Given the description of an element on the screen output the (x, y) to click on. 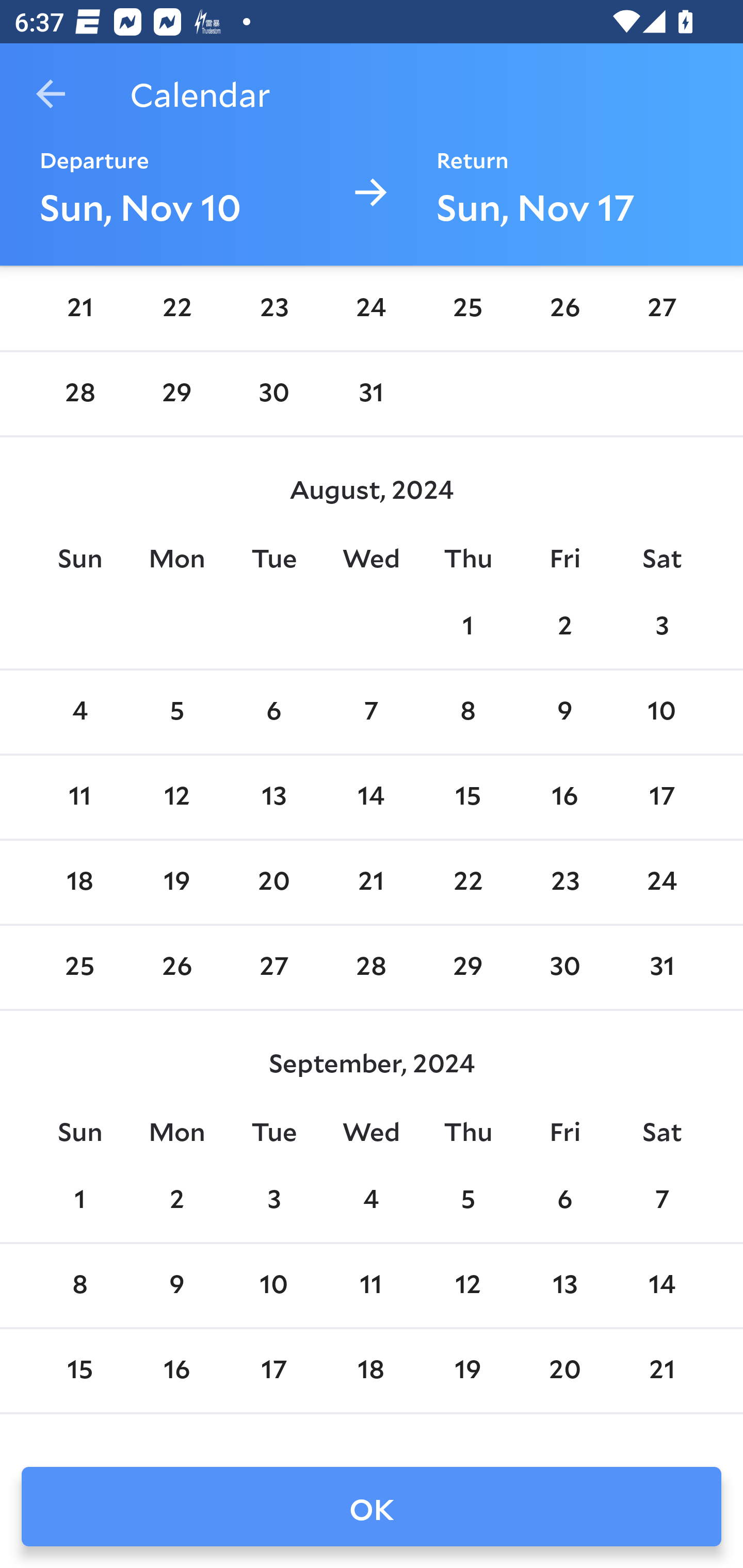
Navigate up (50, 93)
21 (79, 308)
22 (177, 308)
23 (273, 308)
24 (371, 308)
25 (467, 308)
26 (565, 308)
27 (661, 308)
28 (79, 393)
29 (177, 393)
30 (273, 393)
31 (371, 393)
1 (467, 627)
2 (565, 627)
3 (661, 627)
4 (79, 711)
5 (177, 711)
6 (273, 711)
7 (371, 711)
8 (467, 711)
9 (565, 711)
10 (661, 711)
11 (79, 798)
12 (177, 798)
13 (273, 798)
14 (371, 798)
15 (467, 798)
16 (565, 798)
17 (661, 798)
18 (79, 882)
19 (177, 882)
20 (273, 882)
21 (371, 882)
22 (467, 882)
23 (565, 882)
24 (661, 882)
25 (79, 967)
26 (177, 967)
27 (273, 967)
28 (371, 967)
29 (467, 967)
30 (565, 967)
31 (661, 967)
1 (79, 1201)
2 (177, 1201)
3 (273, 1201)
4 (371, 1201)
5 (467, 1201)
6 (565, 1201)
7 (661, 1201)
